Given the description of an element on the screen output the (x, y) to click on. 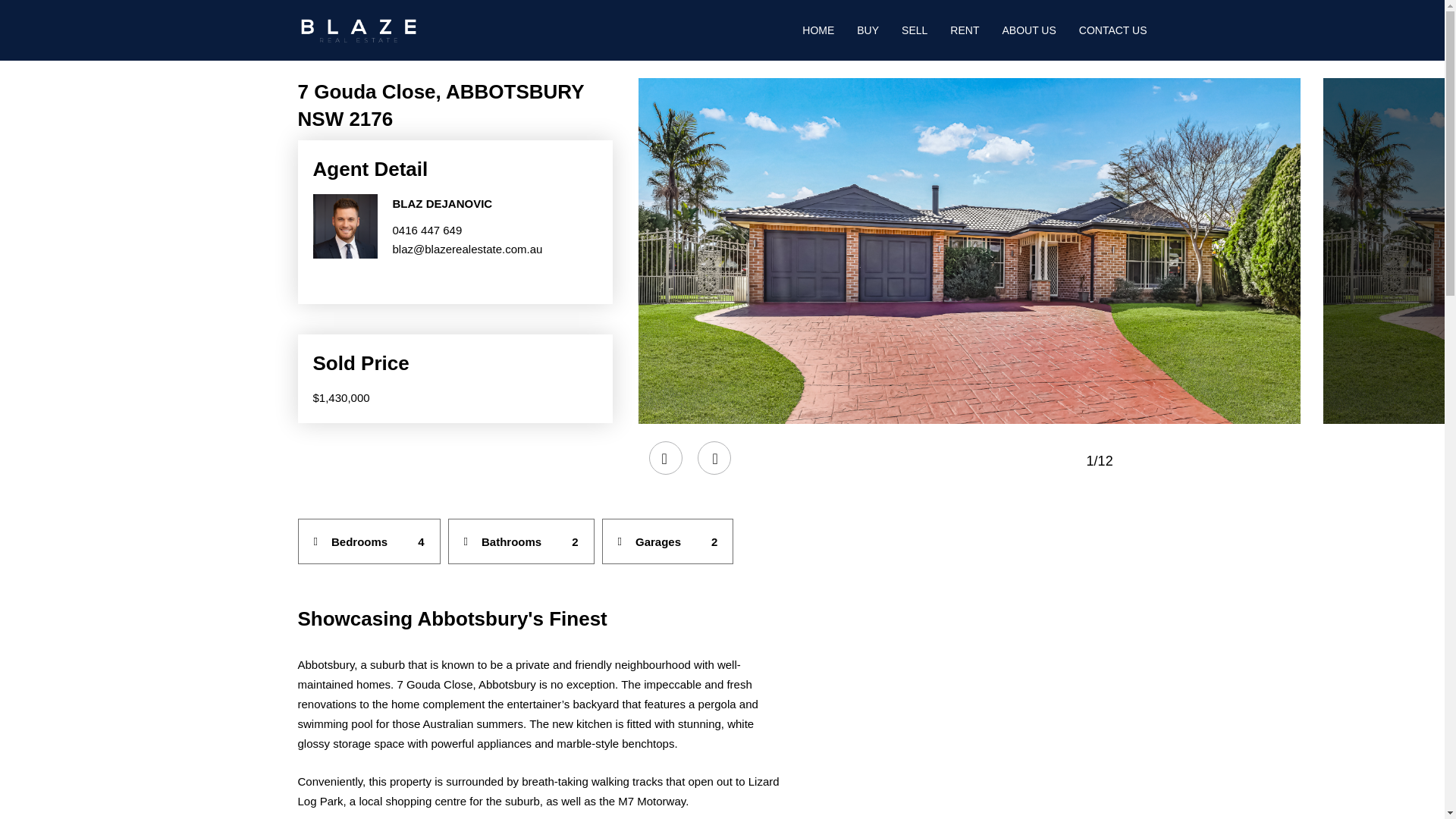
ABOUT US (1028, 30)
RENT (964, 30)
HOME (818, 30)
CONTACT US (1112, 30)
